Given the description of an element on the screen output the (x, y) to click on. 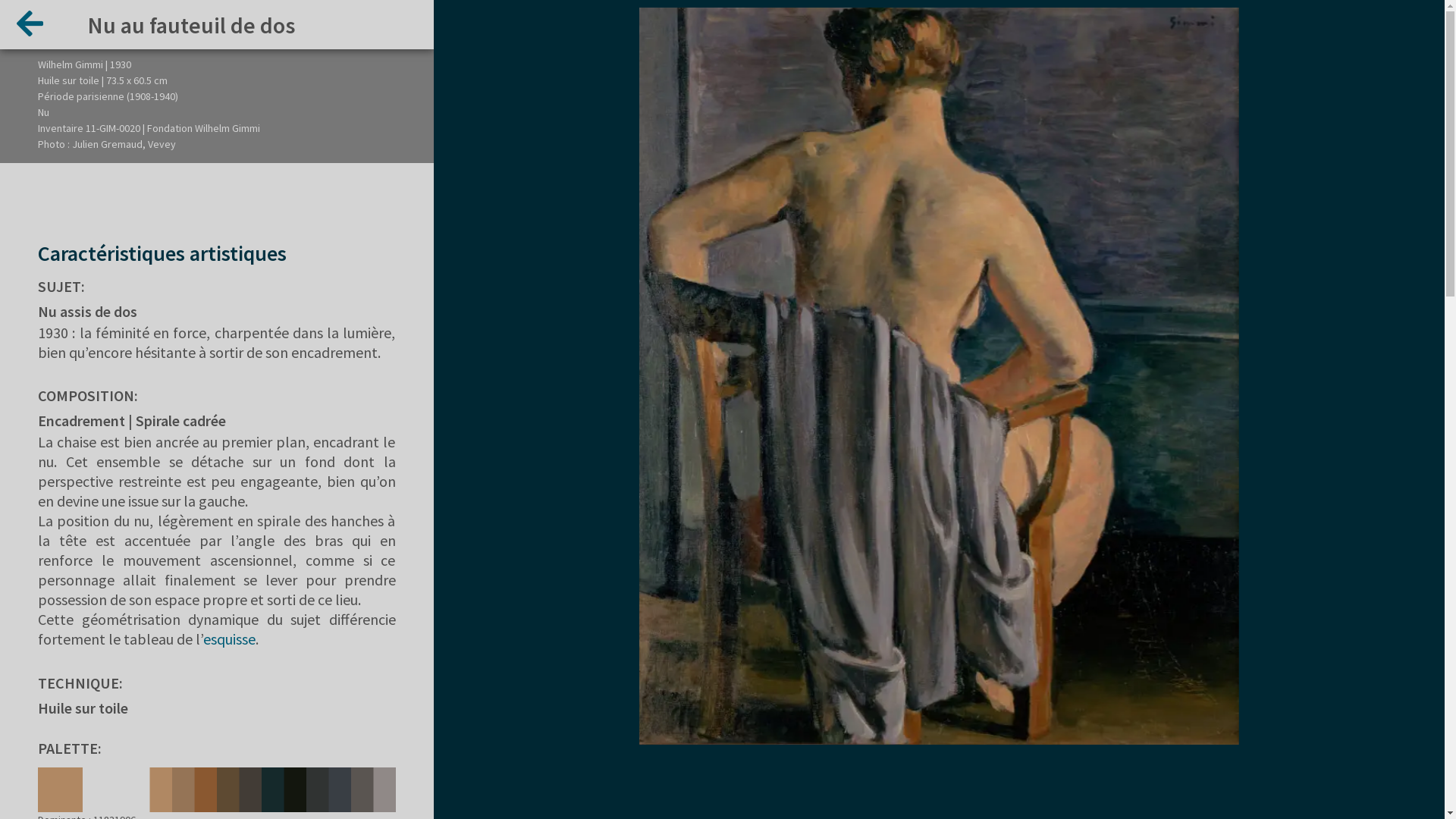
    Element type: text (25, 28)
esquisse Element type: text (229, 638)
